Given the description of an element on the screen output the (x, y) to click on. 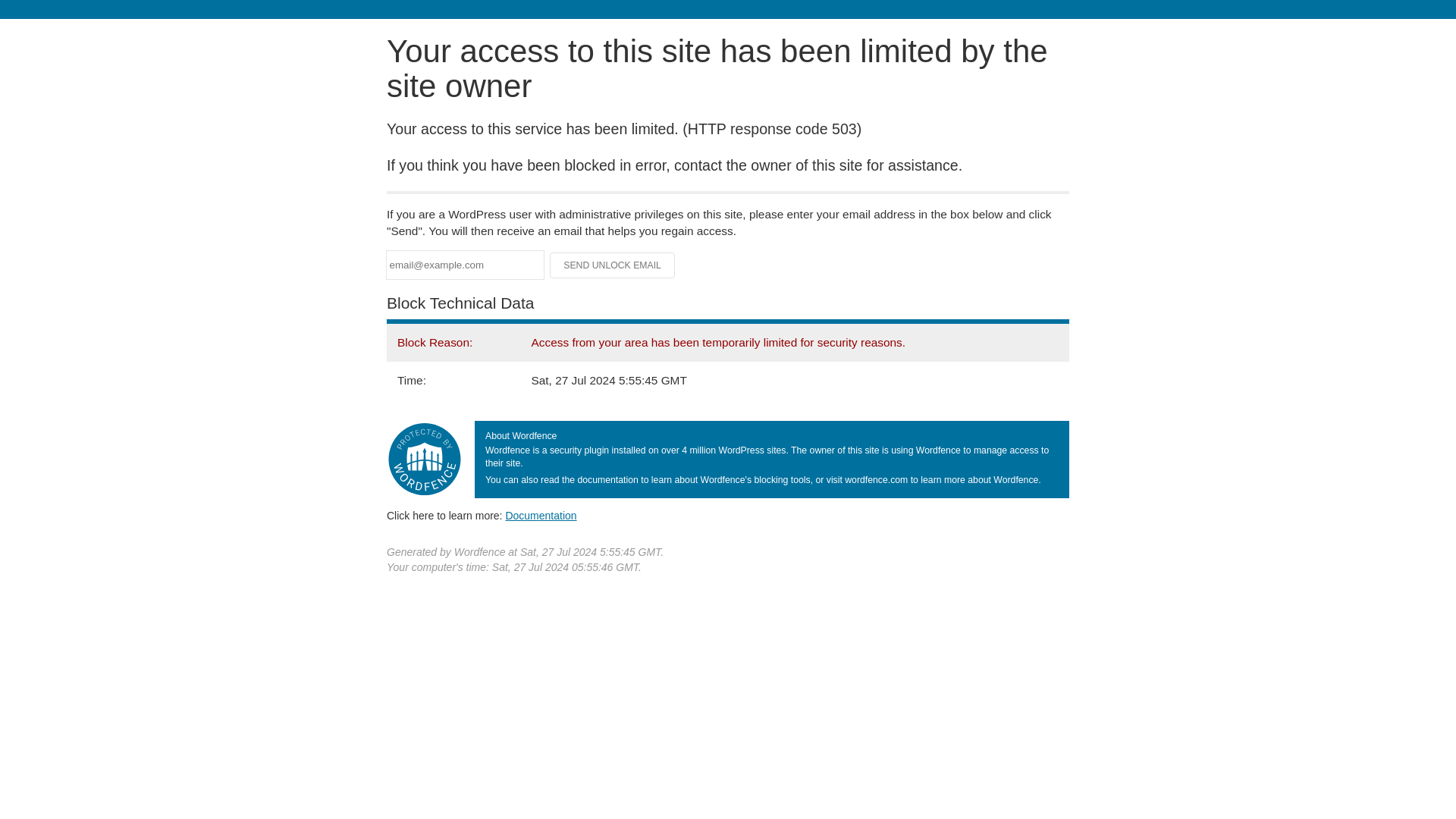
Send Unlock Email (612, 265)
Send Unlock Email (612, 265)
Documentation (540, 515)
